Given the description of an element on the screen output the (x, y) to click on. 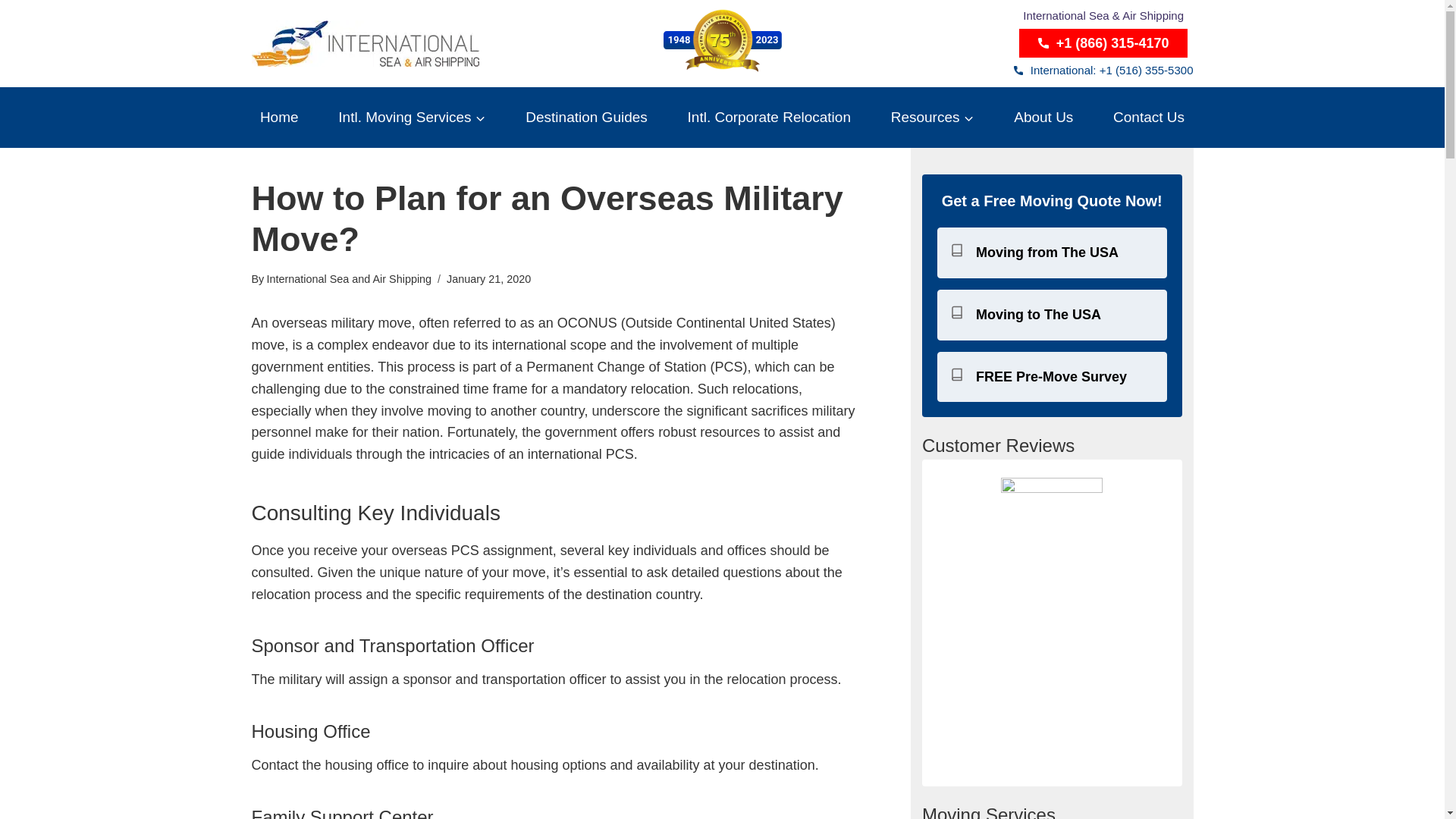
Intl. Moving Services (412, 117)
About Us (1043, 117)
Contact Us (1149, 117)
Home (279, 117)
Customer reviews powered by Trustpilot (1051, 659)
Destination Guides (586, 117)
Resources (932, 117)
Intl. Corporate Relocation (768, 117)
